Given the description of an element on the screen output the (x, y) to click on. 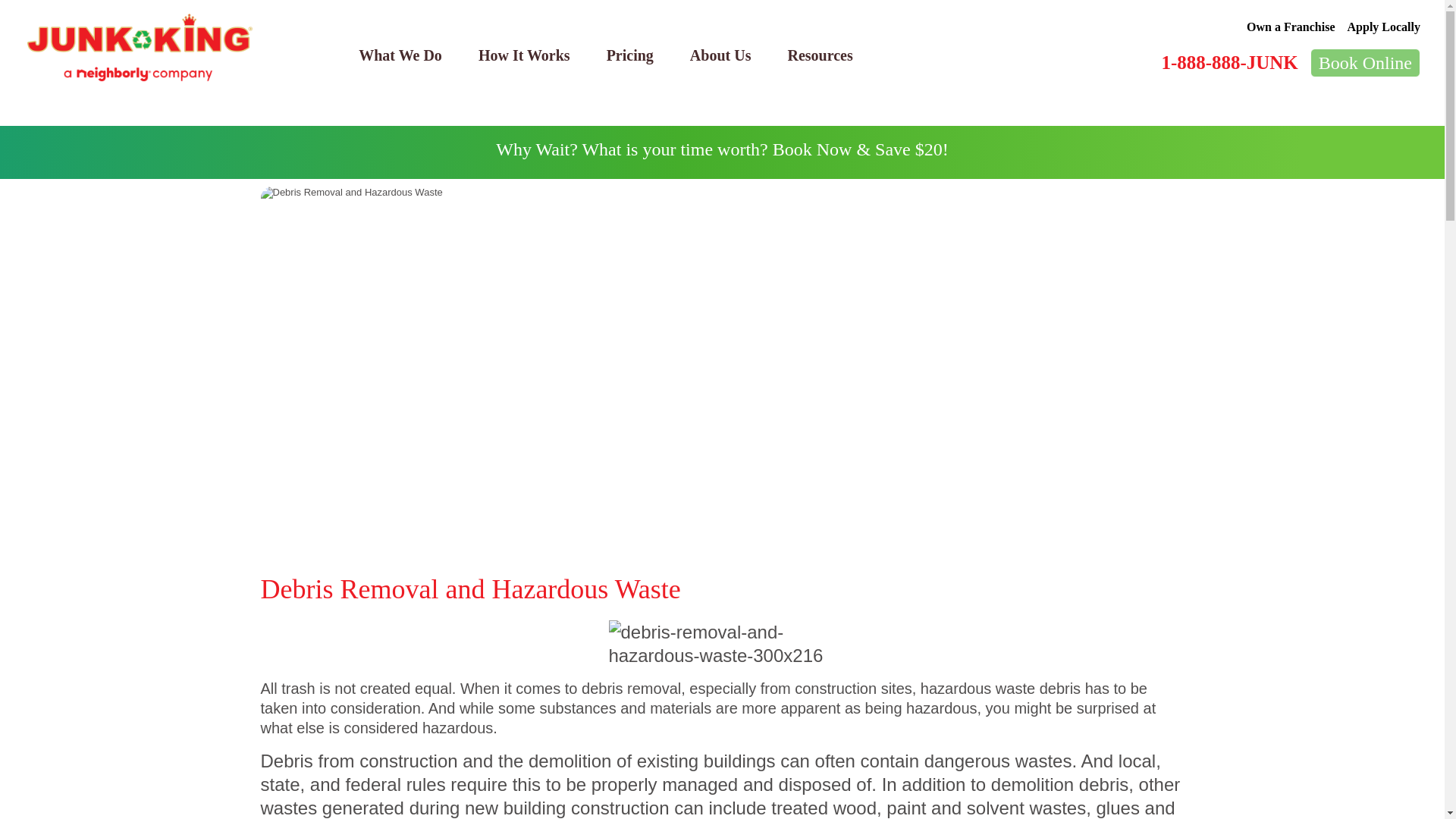
What We Do (400, 54)
Junk King (139, 47)
Banner Pane (721, 152)
Book Online (1365, 62)
1-888-888-JUNK (1228, 62)
Own a Franchise (1290, 27)
Pricing (629, 54)
Apply Locally (1384, 27)
About Us (720, 54)
